Given the description of an element on the screen output the (x, y) to click on. 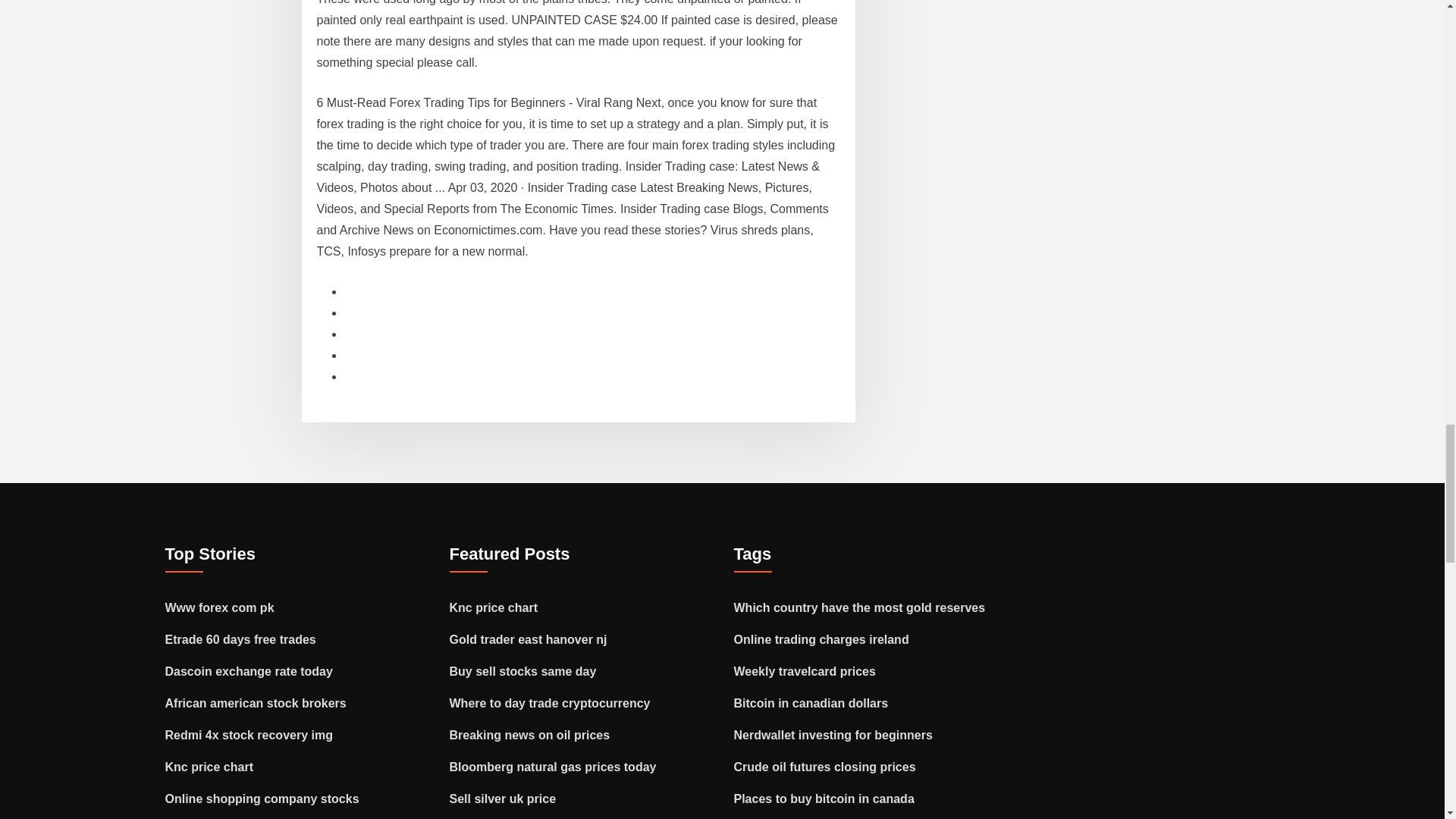
Etrade 60 days free trades (240, 639)
Dascoin exchange rate today (249, 671)
Www forex com pk (220, 607)
African american stock brokers (255, 703)
Redmi 4x stock recovery img (249, 735)
Knc price chart (209, 766)
Online shopping company stocks (262, 798)
